Given the description of an element on the screen output the (x, y) to click on. 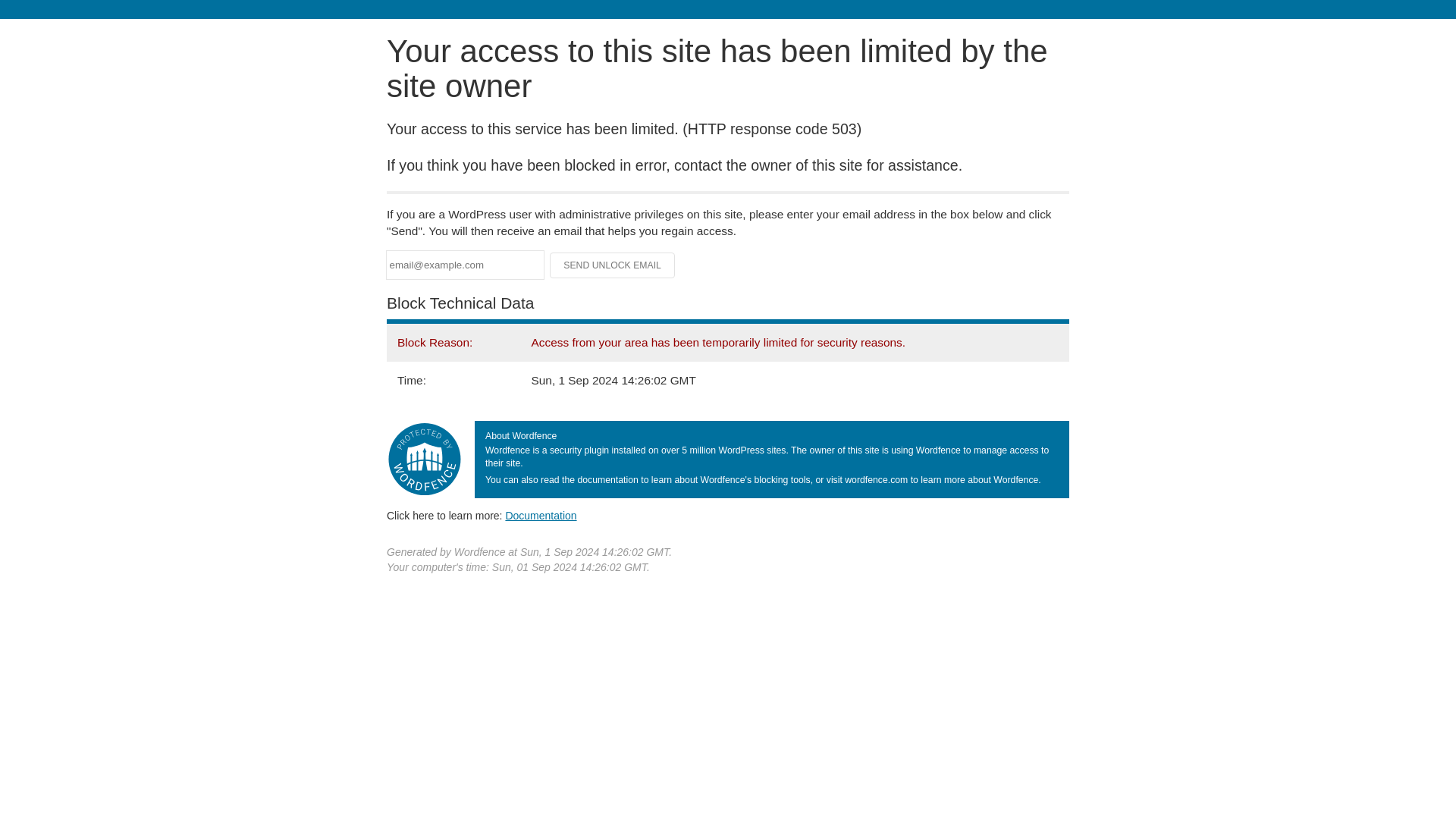
Send Unlock Email (612, 265)
Documentation (540, 515)
Send Unlock Email (612, 265)
